Given the description of an element on the screen output the (x, y) to click on. 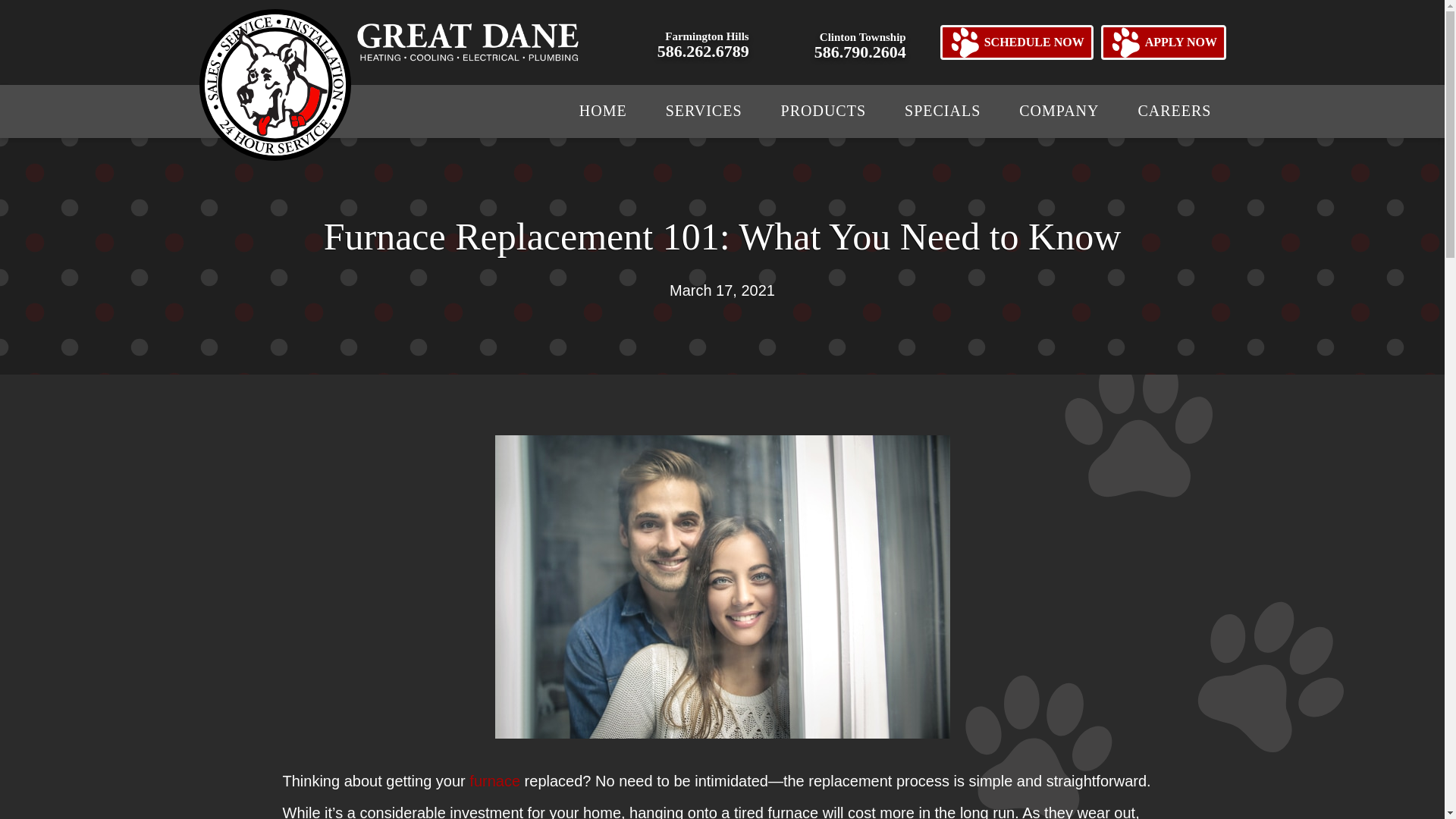
APPLY NOW (703, 42)
SCHEDULE NOW (1162, 42)
SERVICES (1016, 42)
HOME (703, 109)
